Given the description of an element on the screen output the (x, y) to click on. 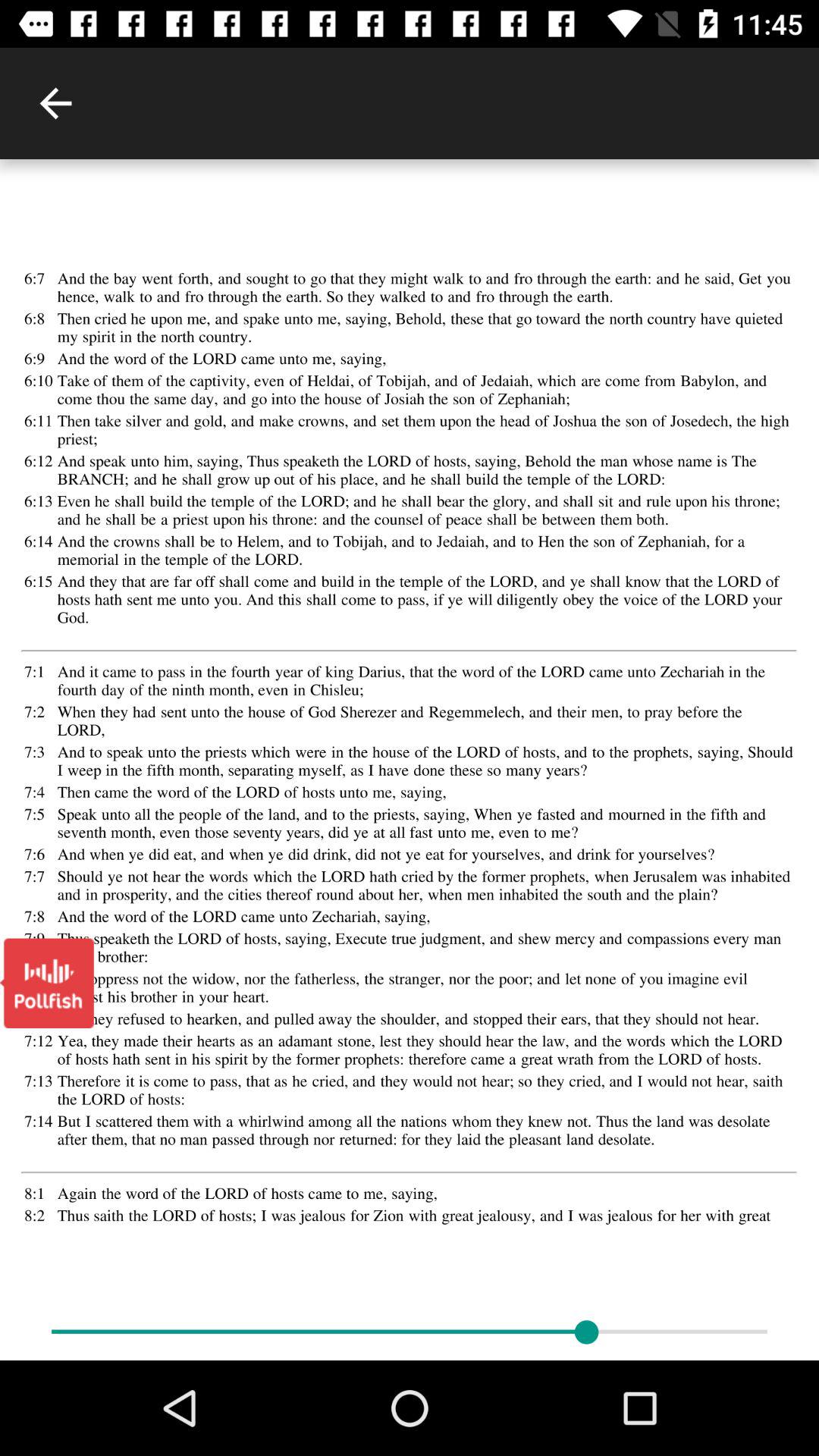
choose icon at the top left corner (55, 103)
